Given the description of an element on the screen output the (x, y) to click on. 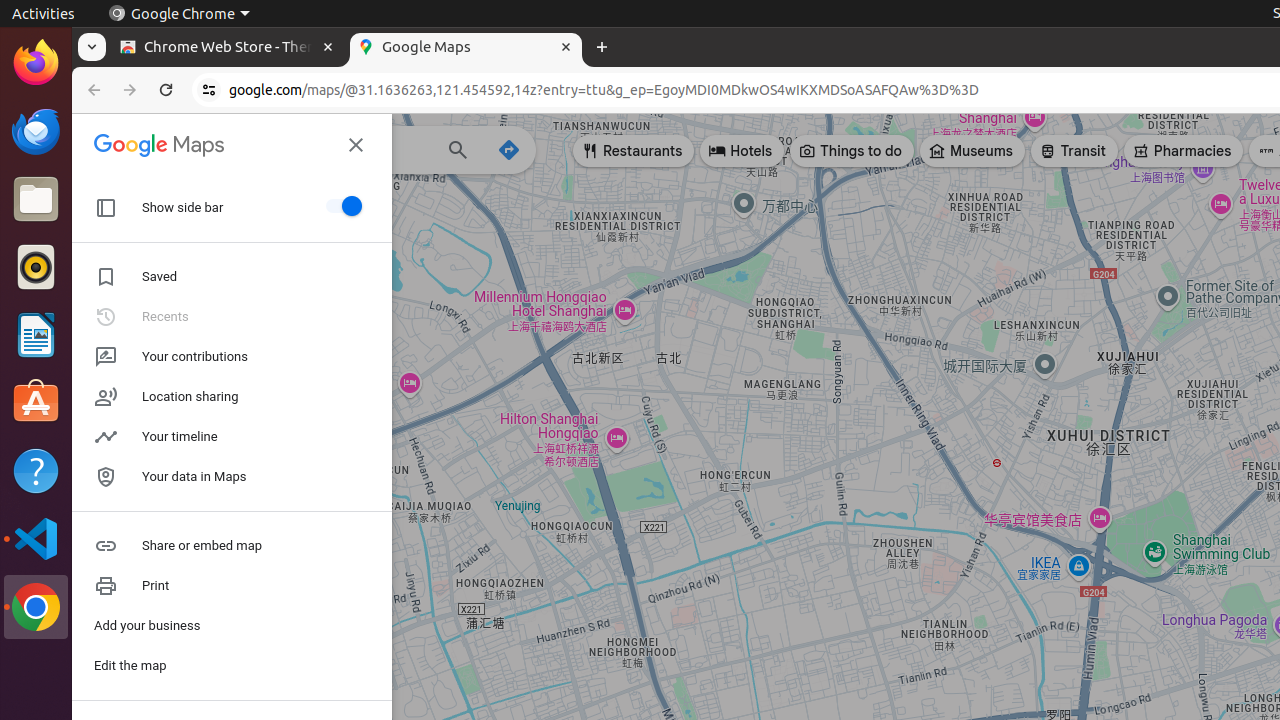
Add your business Element type: menu-item (232, 626)
Pharmacies Element type: push-button (1183, 151)
Edit the map Element type: menu-item (232, 666)
Your data in Maps Element type: menu-item (232, 477)
Reload Element type: push-button (166, 90)
